Given the description of an element on the screen output the (x, y) to click on. 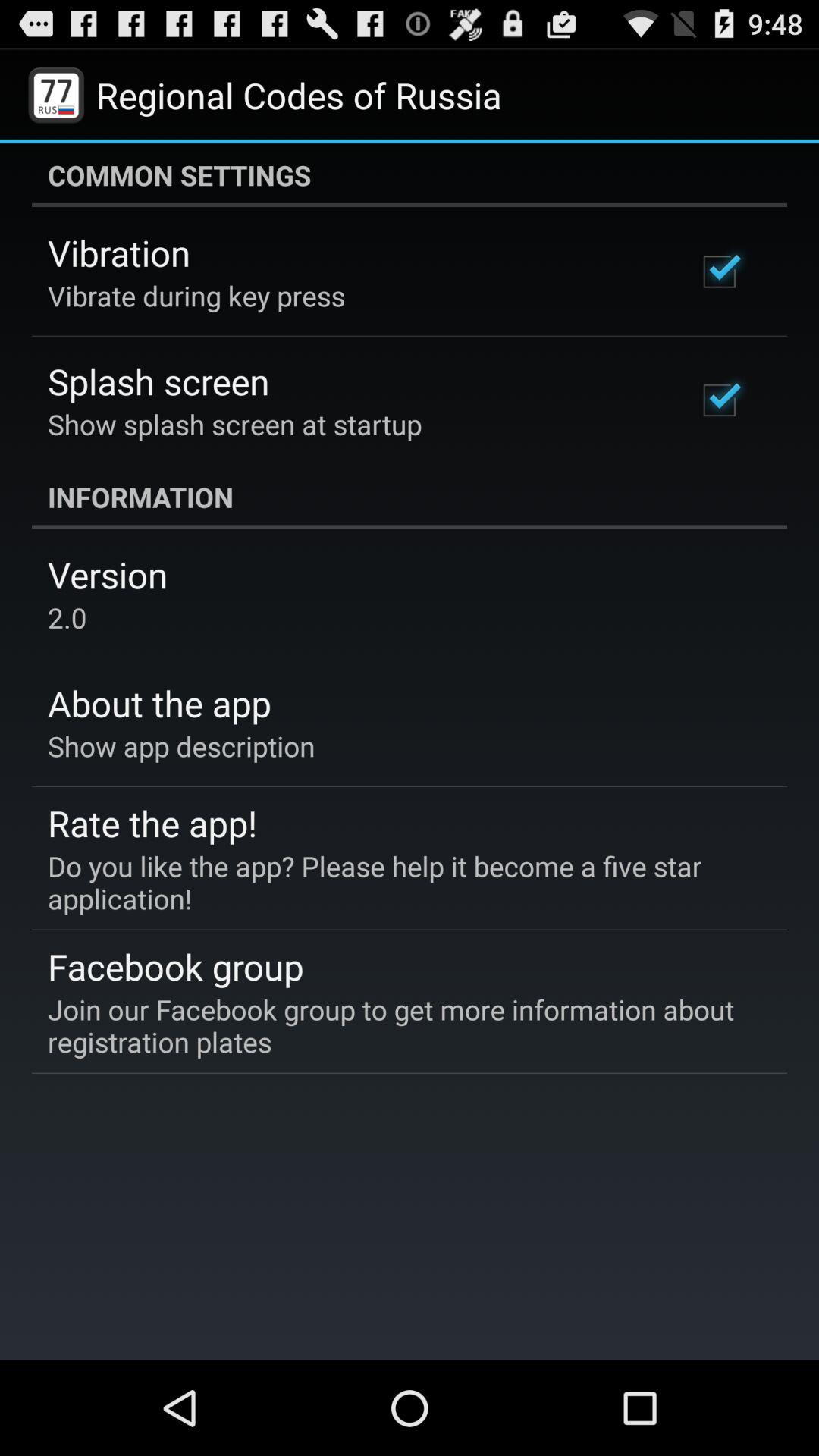
choose the join our facebook app (399, 1025)
